Given the description of an element on the screen output the (x, y) to click on. 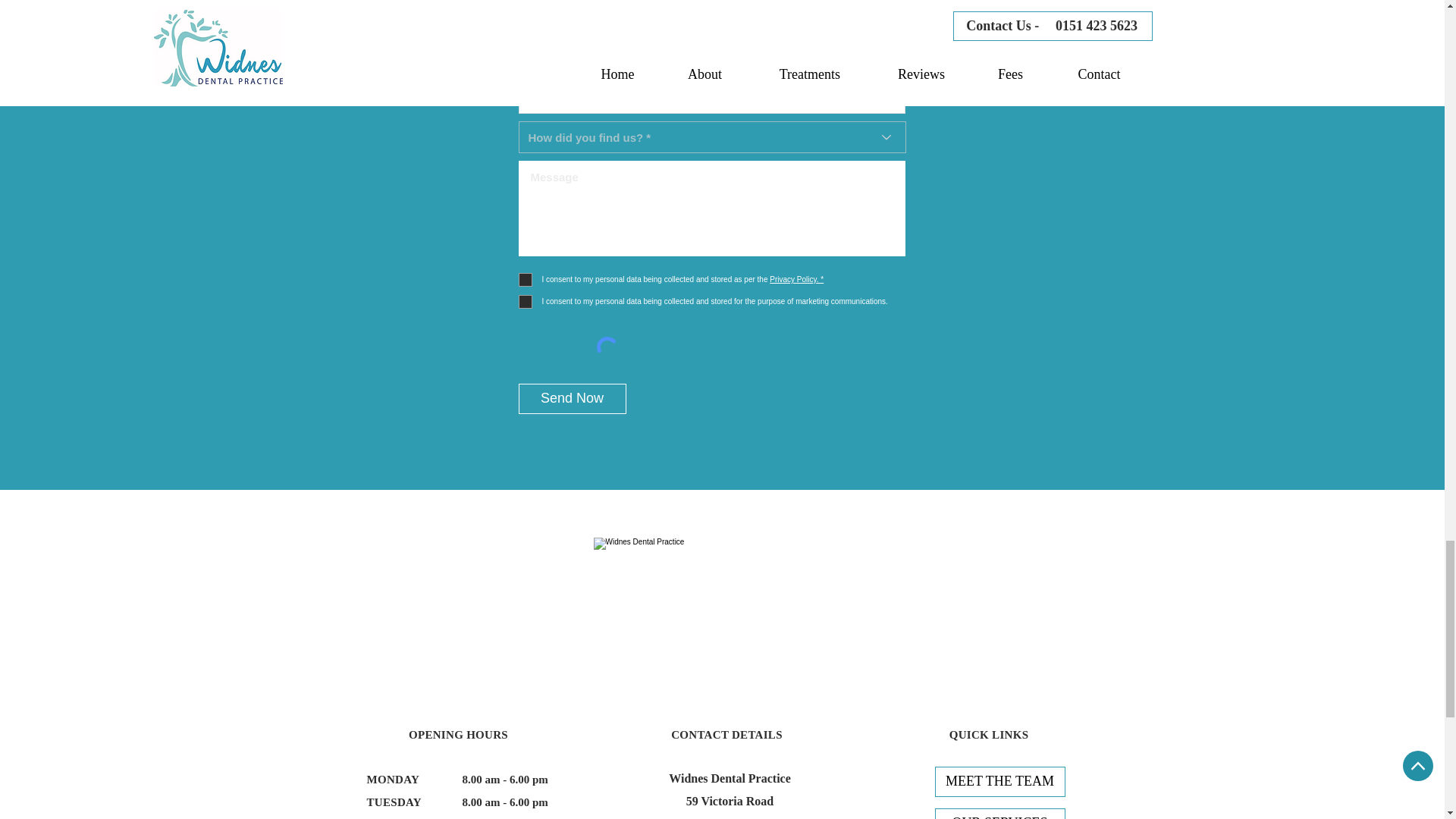
OUR SERVICES (999, 813)
MEET THE TEAM (999, 781)
Send Now (572, 399)
